Given the description of an element on the screen output the (x, y) to click on. 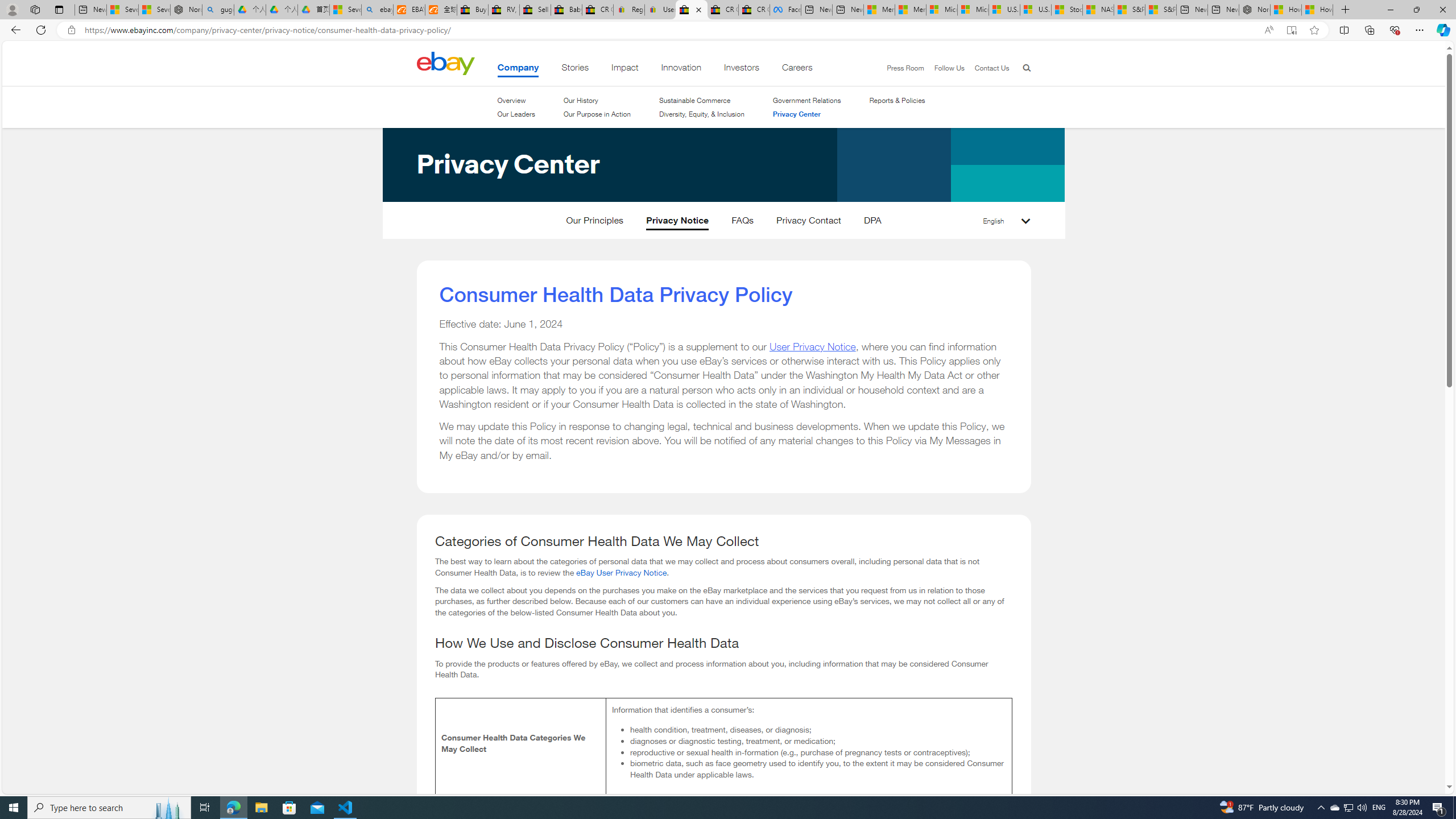
Privacy Center (806, 113)
Privacy Contact (808, 222)
Diversity, Equity, & Inclusion (701, 113)
Overview (510, 99)
Government Relations (806, 99)
Follow Us (948, 67)
Innovation (681, 69)
Buy Auto Parts & Accessories | eBay (472, 9)
